Given the description of an element on the screen output the (x, y) to click on. 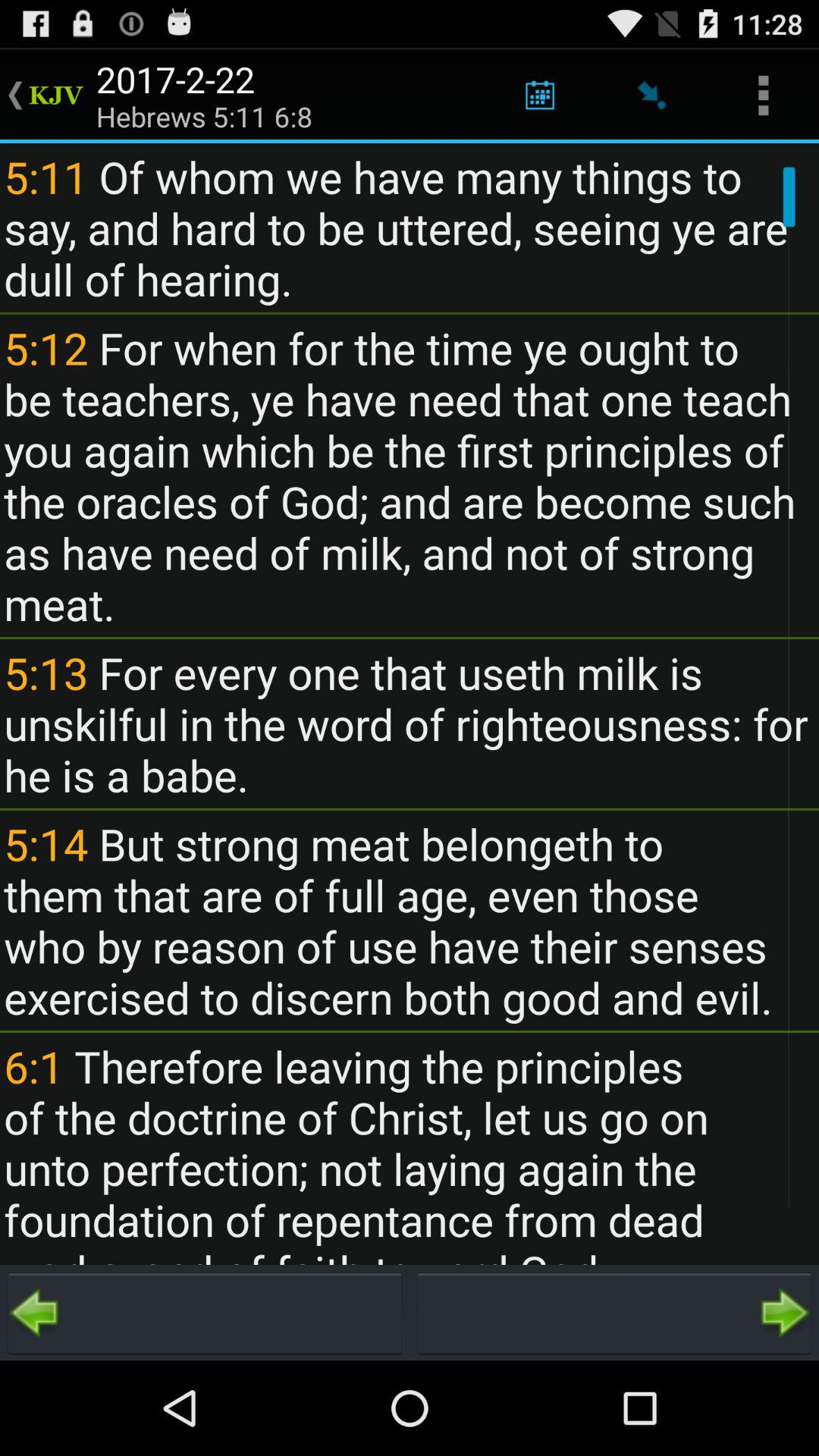
select item above the 5 11 of (651, 95)
